Given the description of an element on the screen output the (x, y) to click on. 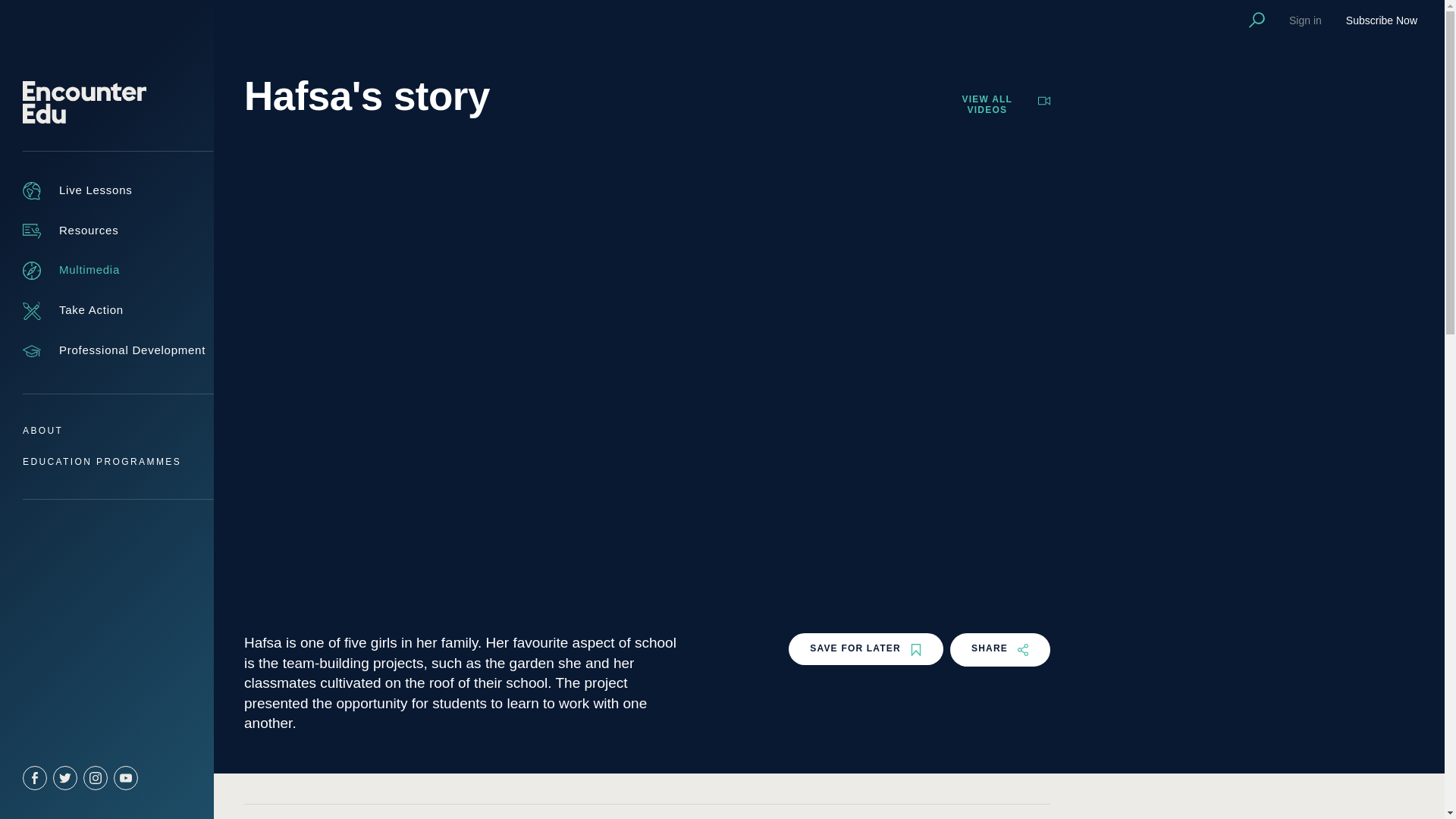
VIEW ALL VIDEOS (999, 105)
Sign in (1305, 20)
Search (1257, 19)
ABOUT (42, 430)
SHARE (999, 649)
Multimedia (71, 270)
Live Lessons (77, 190)
Professional Development (114, 351)
Resources (70, 230)
Subscribe Now (1380, 20)
